Given the description of an element on the screen output the (x, y) to click on. 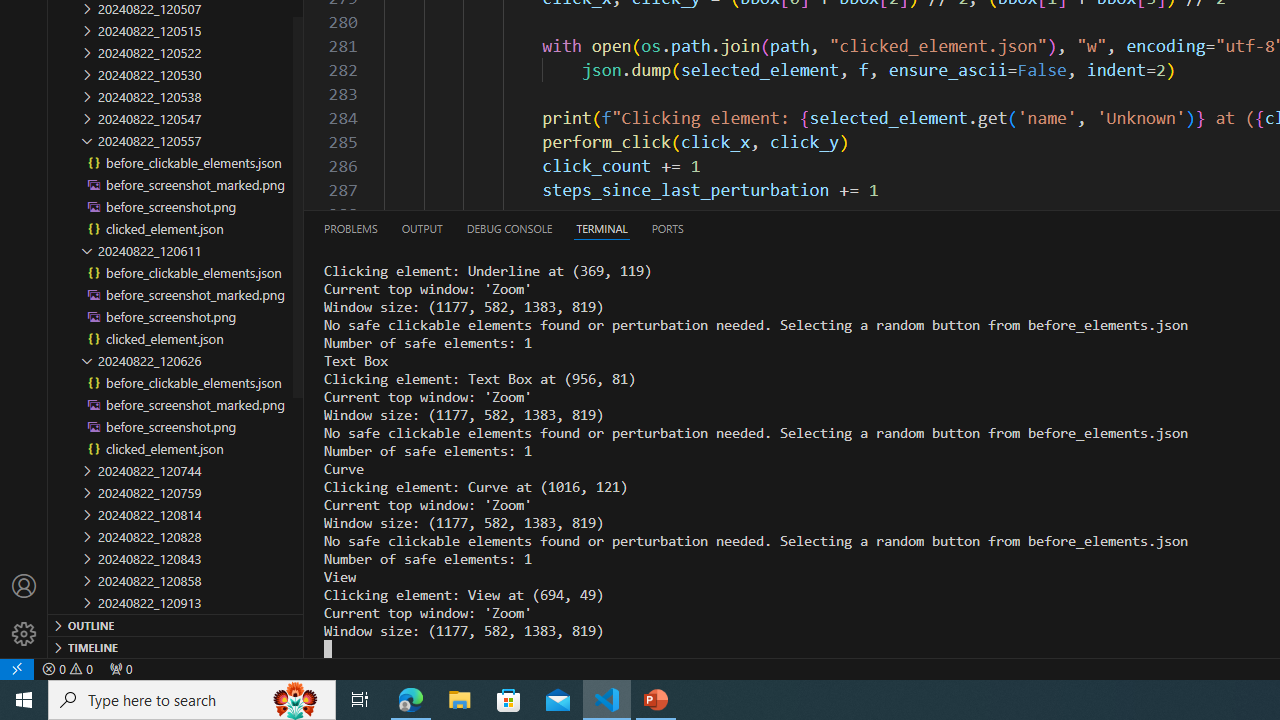
No Problems (67, 668)
Timeline Section (175, 646)
Ports (667, 228)
Problems (Ctrl+Shift+M) (351, 228)
Terminal (Ctrl+`) (602, 228)
Output (Ctrl+Shift+U) (421, 228)
remote (17, 668)
Outline Section (175, 624)
No Ports Forwarded (120, 668)
Debug Console (Ctrl+Shift+Y) (509, 228)
Manage (24, 610)
Accounts (24, 585)
Manage (24, 633)
